Given the description of an element on the screen output the (x, y) to click on. 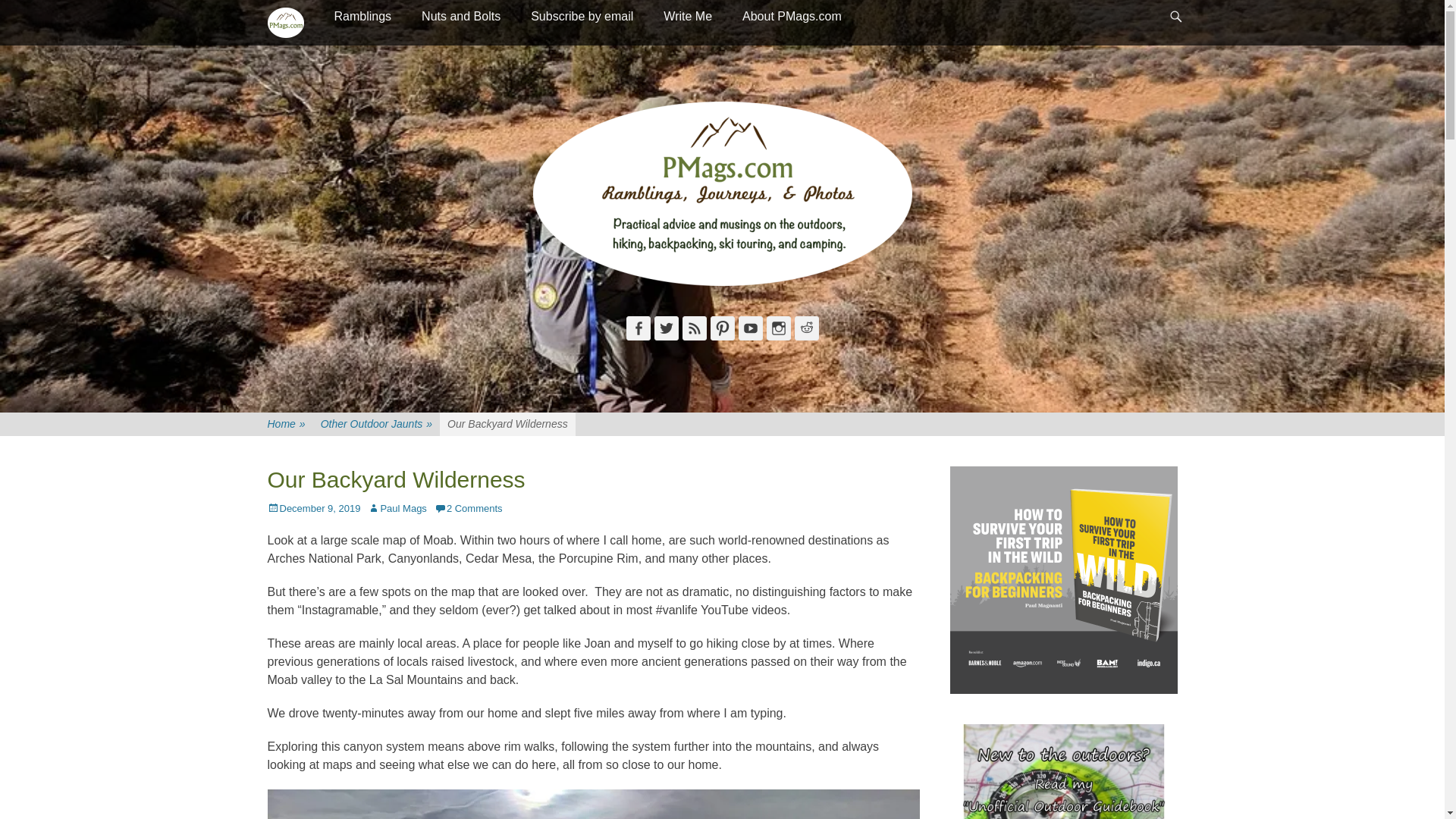
Facebook (638, 328)
Twitter (665, 328)
Ramblings (362, 16)
Write Me (686, 16)
